Given the description of an element on the screen output the (x, y) to click on. 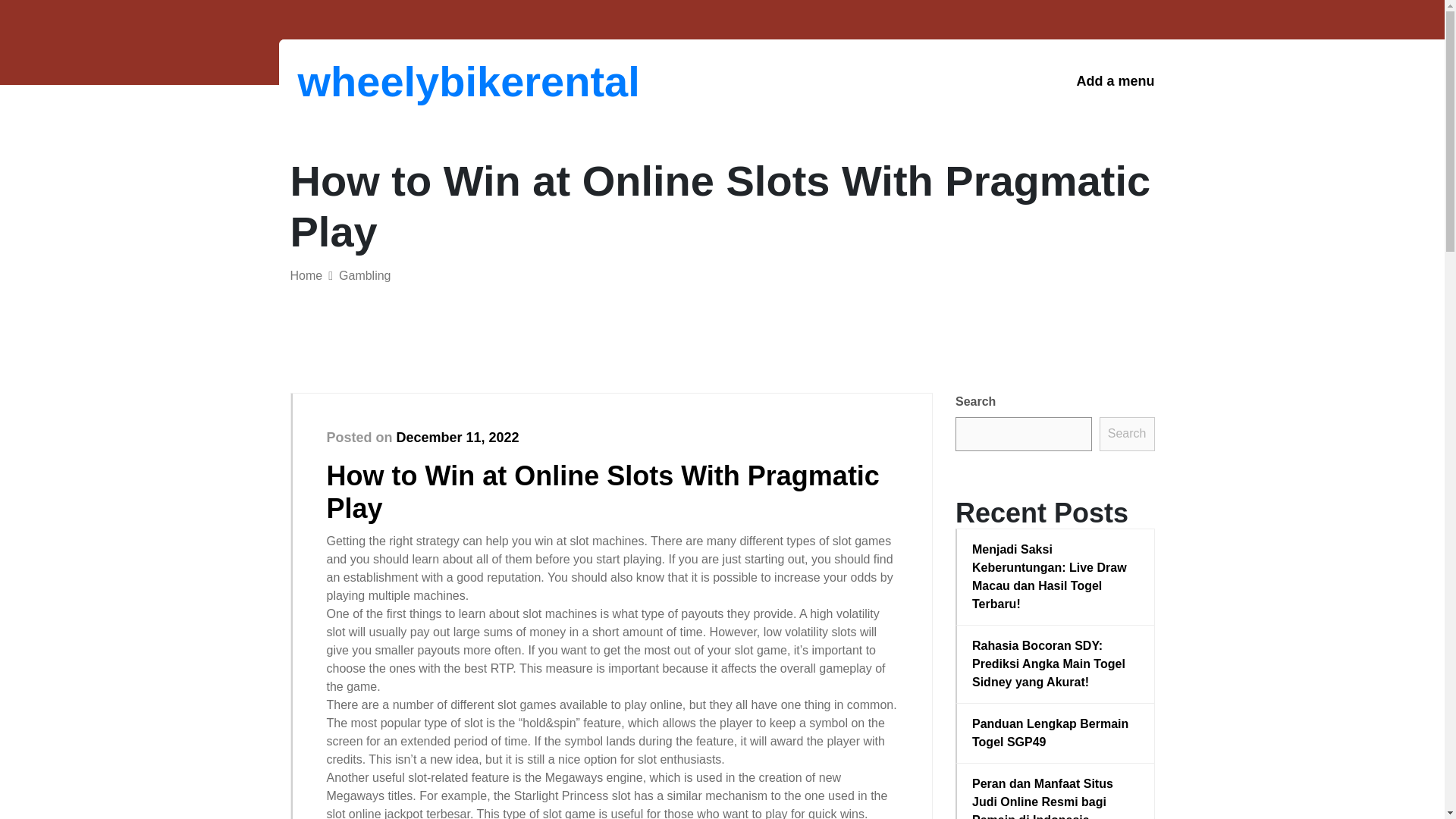
Home (305, 275)
wheelybikerental (376, 81)
December 11, 2022 (457, 437)
Panduan Lengkap Bermain Togel SGP49 (1055, 732)
Search (1126, 433)
How to Win at Online Slots With Pragmatic Play (602, 492)
Add a menu (1114, 81)
